Given the description of an element on the screen output the (x, y) to click on. 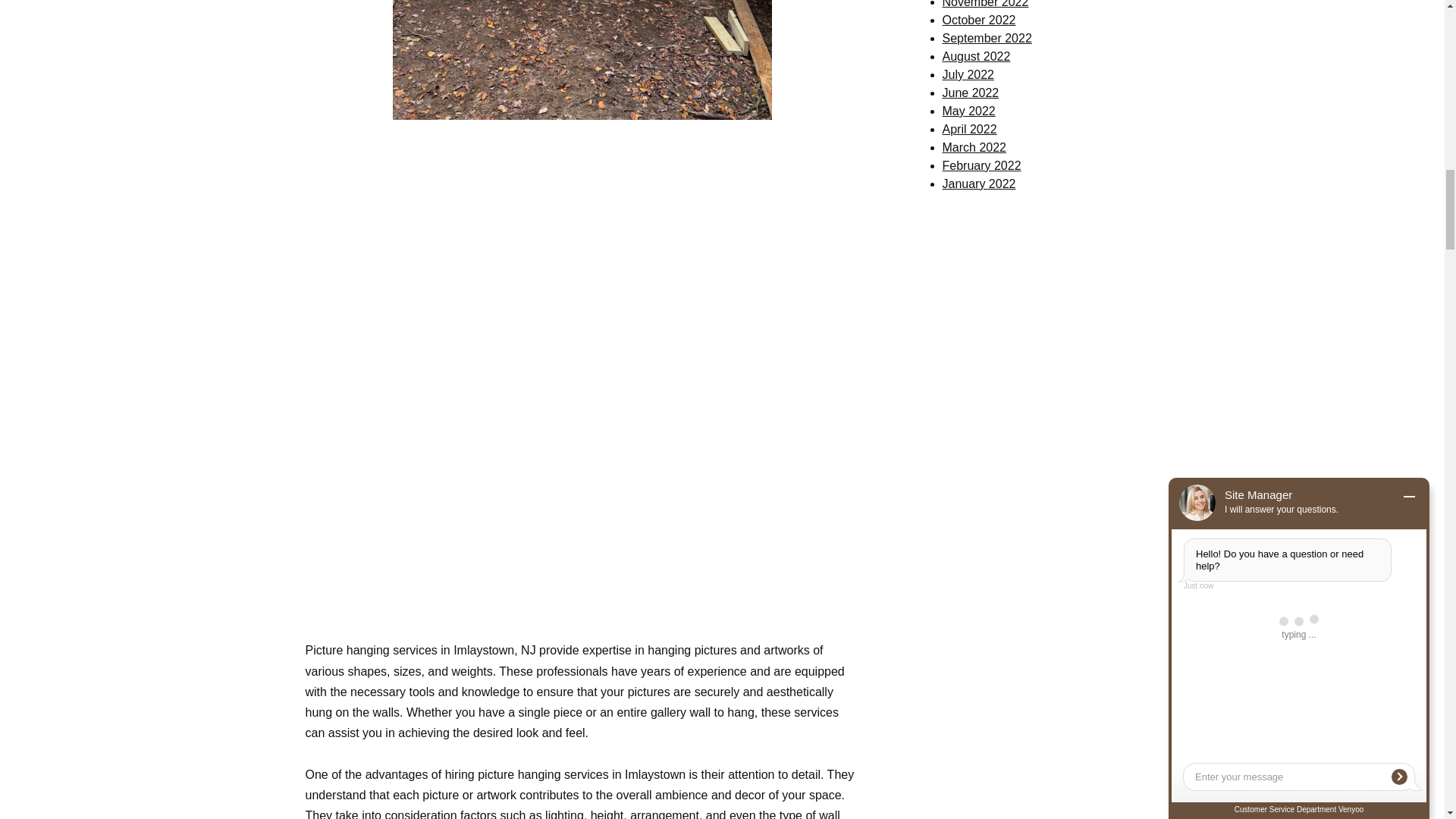
YouTube video player (581, 251)
YouTube video player (581, 495)
